Given the description of an element on the screen output the (x, y) to click on. 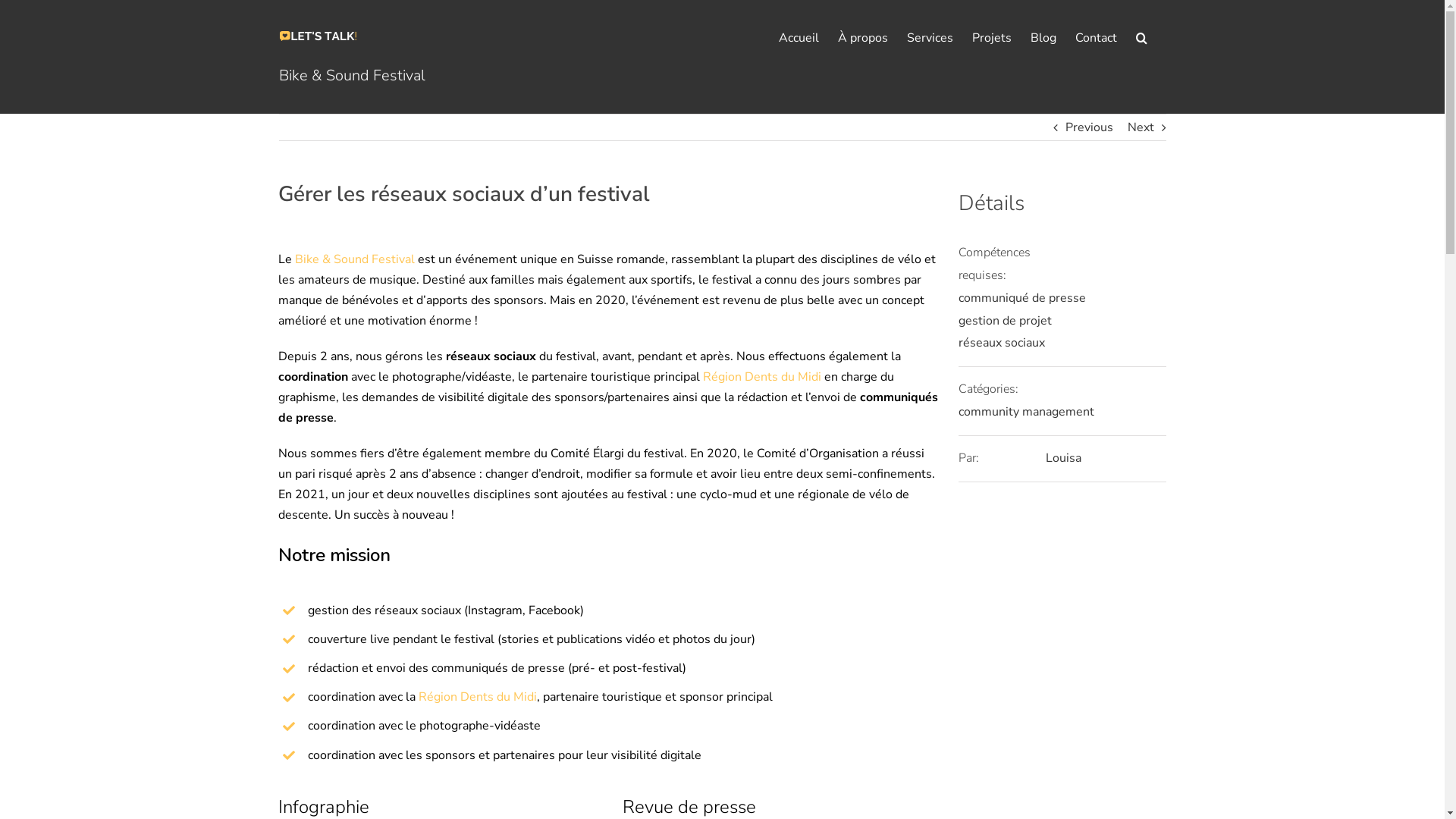
gestion de projet Element type: text (1004, 320)
Previous Element type: text (1088, 127)
Blog Element type: text (1042, 37)
Contact Element type: text (1096, 37)
Services Element type: text (929, 37)
Bike & Sound Festival Element type: text (354, 259)
Accueil Element type: text (798, 37)
Recherche Element type: hover (1141, 37)
Next Element type: text (1139, 127)
Louisa Element type: text (1063, 457)
Projets Element type: text (991, 37)
community management Element type: text (1026, 411)
